Given the description of an element on the screen output the (x, y) to click on. 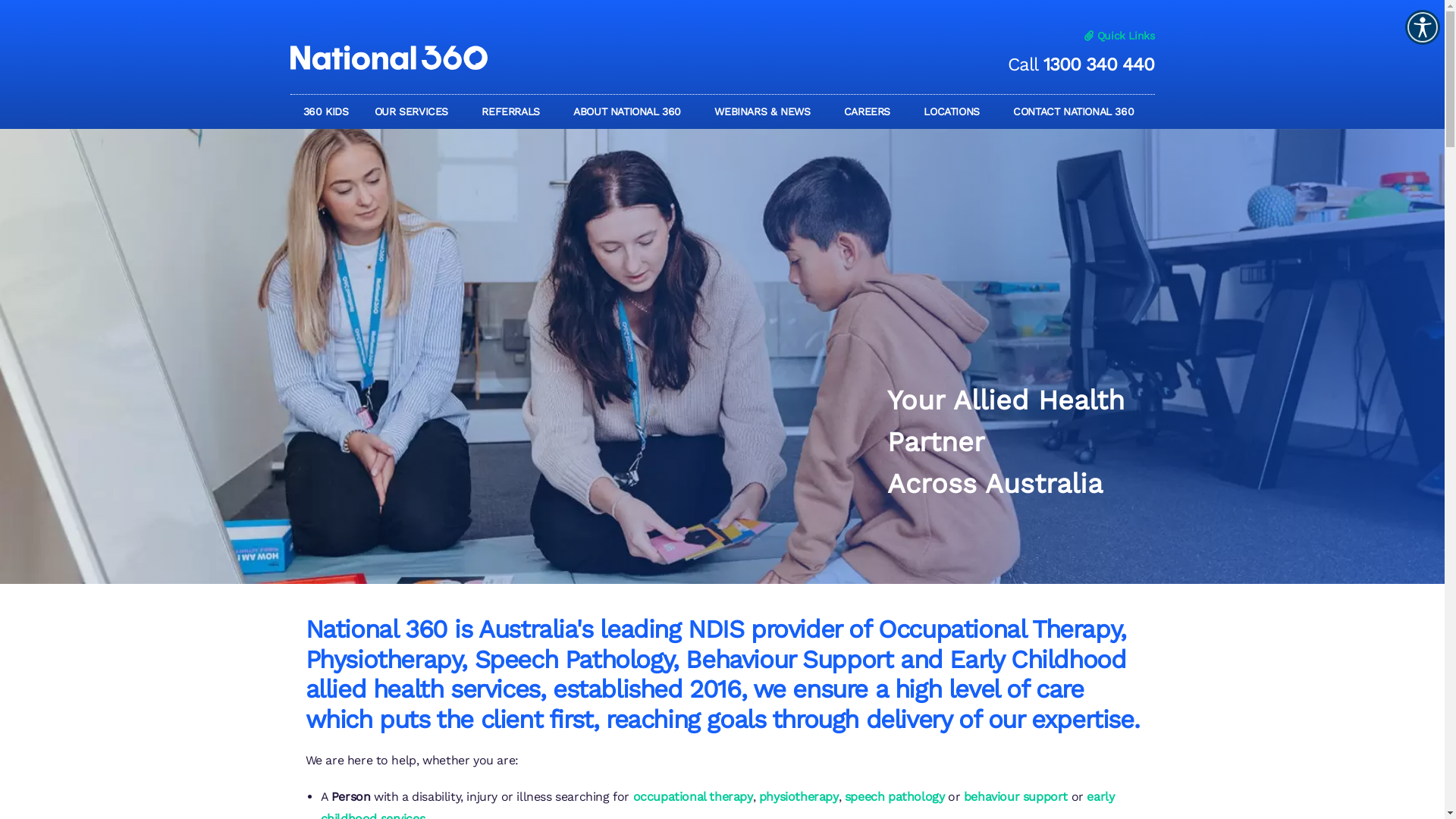
ABOUT NATIONAL 360 Element type: text (630, 111)
Quick Links Element type: text (1115, 35)
CONTACT NATIONAL 360 Element type: text (1077, 111)
behaviour support Element type: text (1015, 796)
occupational therapy Element type: text (693, 796)
LOCATIONS Element type: text (955, 111)
CAREERS Element type: text (871, 111)
REFERRALS Element type: text (514, 111)
HomePage 1 Element type: hover (722, 355)
OUR SERVICES Element type: text (415, 111)
360 KIDS Element type: text (324, 111)
WEBINARS & NEWS Element type: text (765, 111)
1300 340 440 Element type: text (1098, 64)
physiotherapy Element type: text (798, 796)
speech pathology Element type: text (894, 796)
